Given the description of an element on the screen output the (x, y) to click on. 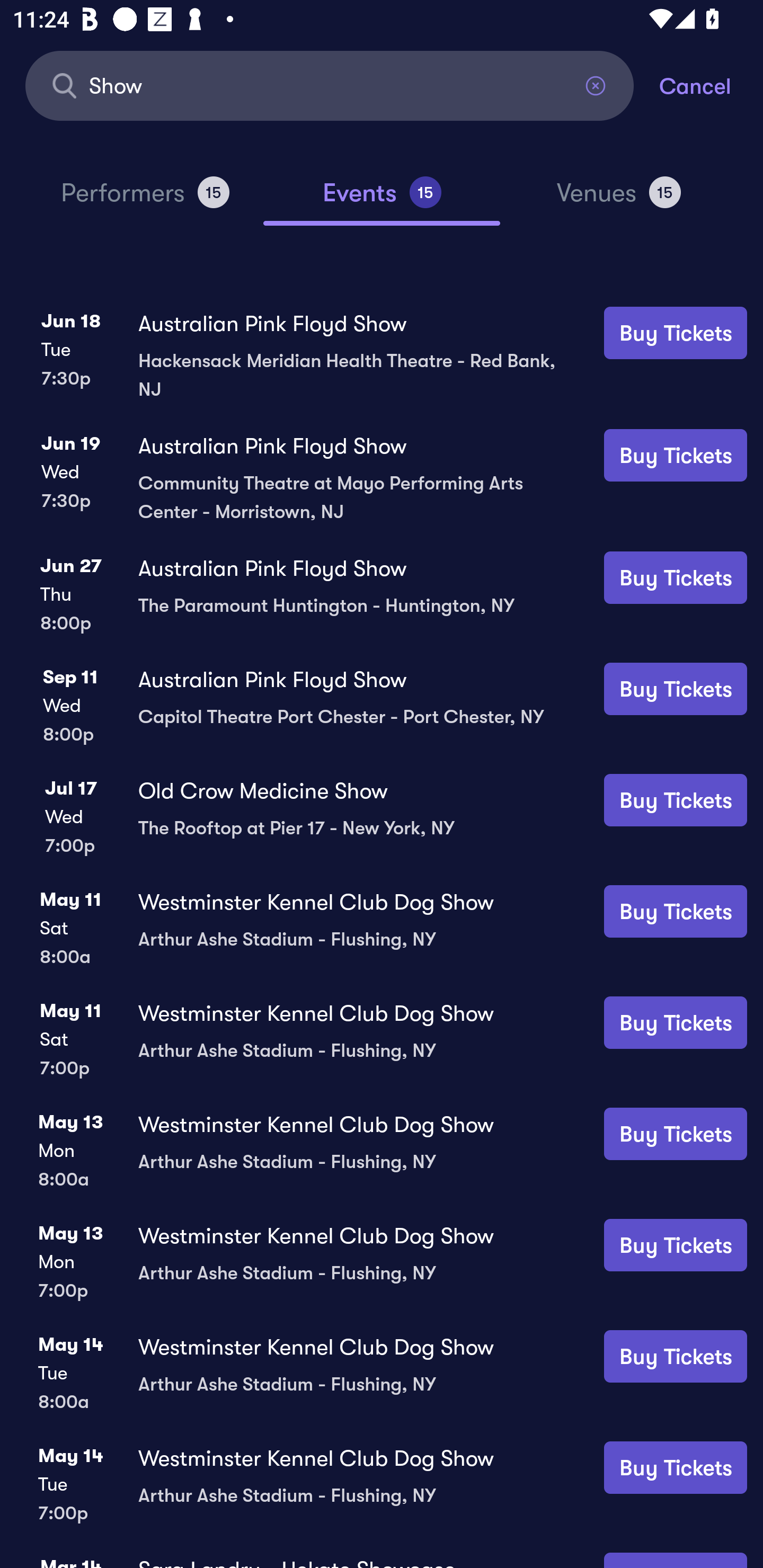
Show Find (329, 85)
Show Find (329, 85)
Cancel (711, 85)
Performers 15 (144, 200)
Events 15 (381, 200)
Venues 15 (618, 200)
